Given the description of an element on the screen output the (x, y) to click on. 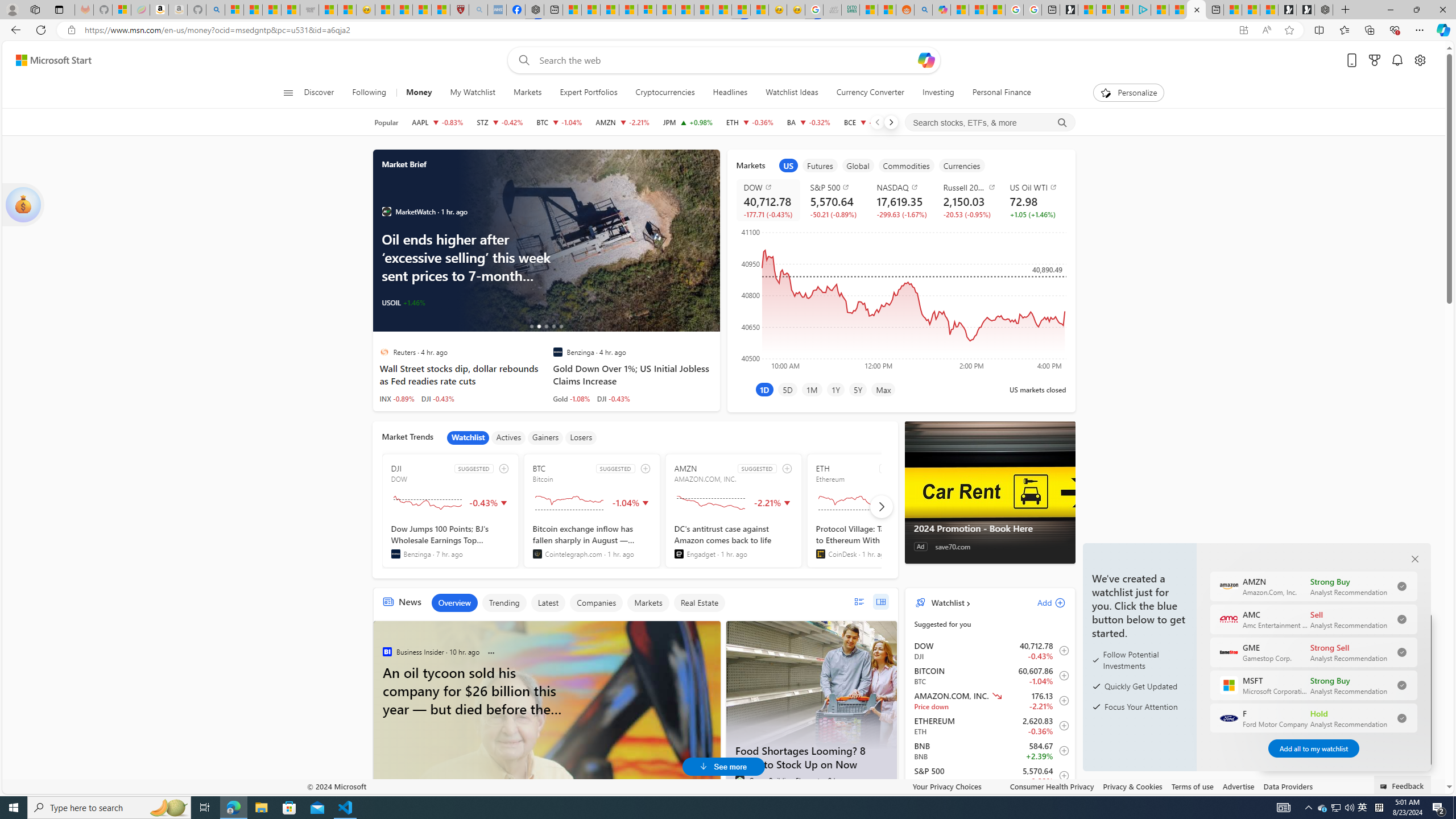
Utah sues federal government - Search (923, 9)
BNB BNB increase 584.67 +13.99 +2.39% item4 (989, 750)
Personal Finance (996, 92)
item5 (962, 164)
INX S&P 500 decrease 5,570.64 -50.21 -0.89% item5 (989, 775)
2024 Promotion - Book Here (989, 492)
Popular (386, 121)
